Given the description of an element on the screen output the (x, y) to click on. 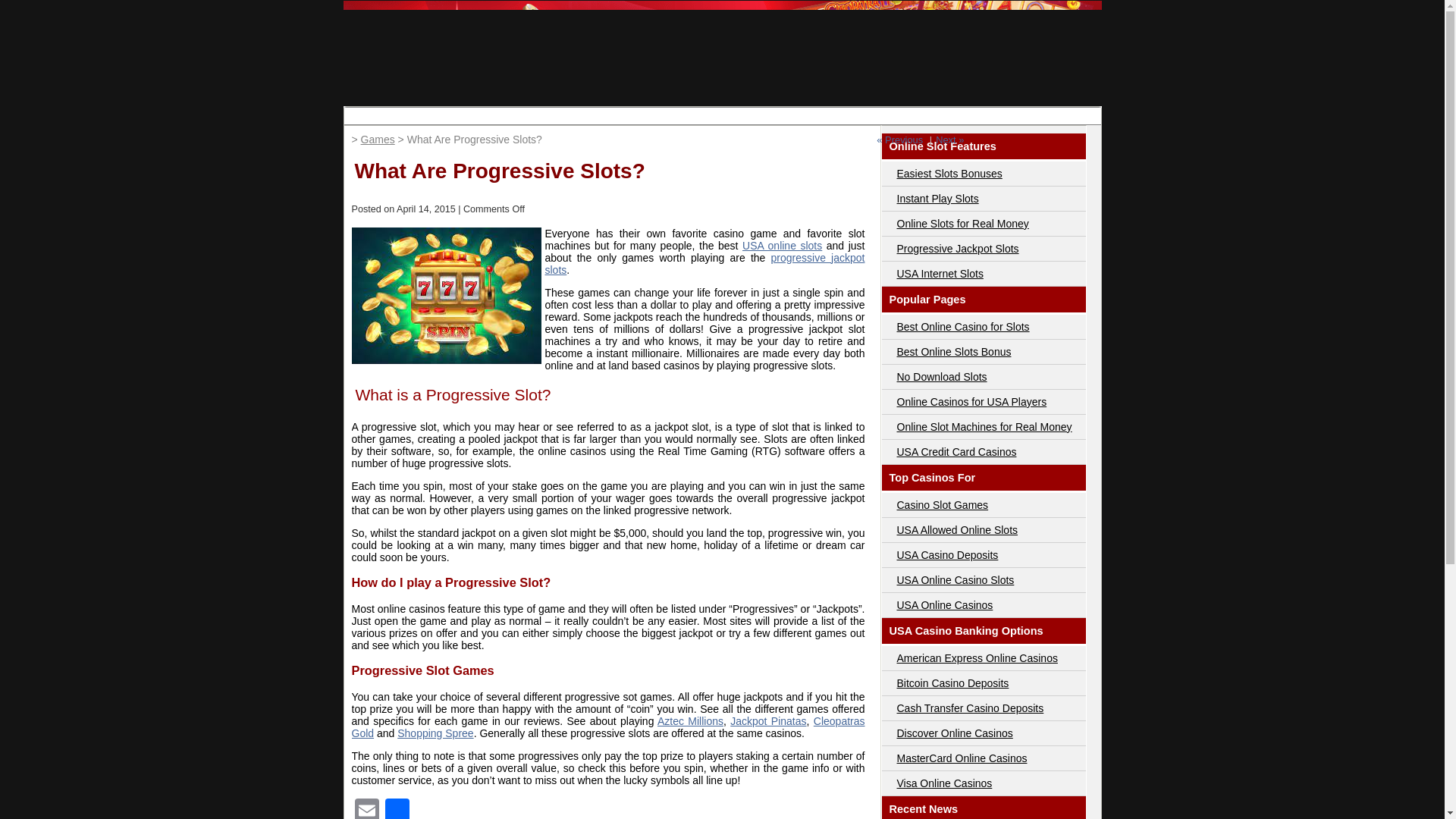
USA Online Casino Slots (954, 580)
Jackpot Pinatas (768, 720)
No Download Slots (941, 377)
USA Casino Deposits (946, 554)
Shopping Spree (435, 733)
progressive jackpot slots (704, 263)
Online Slot Machines for Real Money (983, 426)
USA Online Casinos (944, 604)
Casino Slot Games (942, 504)
USA Mobile Slots (720, 115)
